Given the description of an element on the screen output the (x, y) to click on. 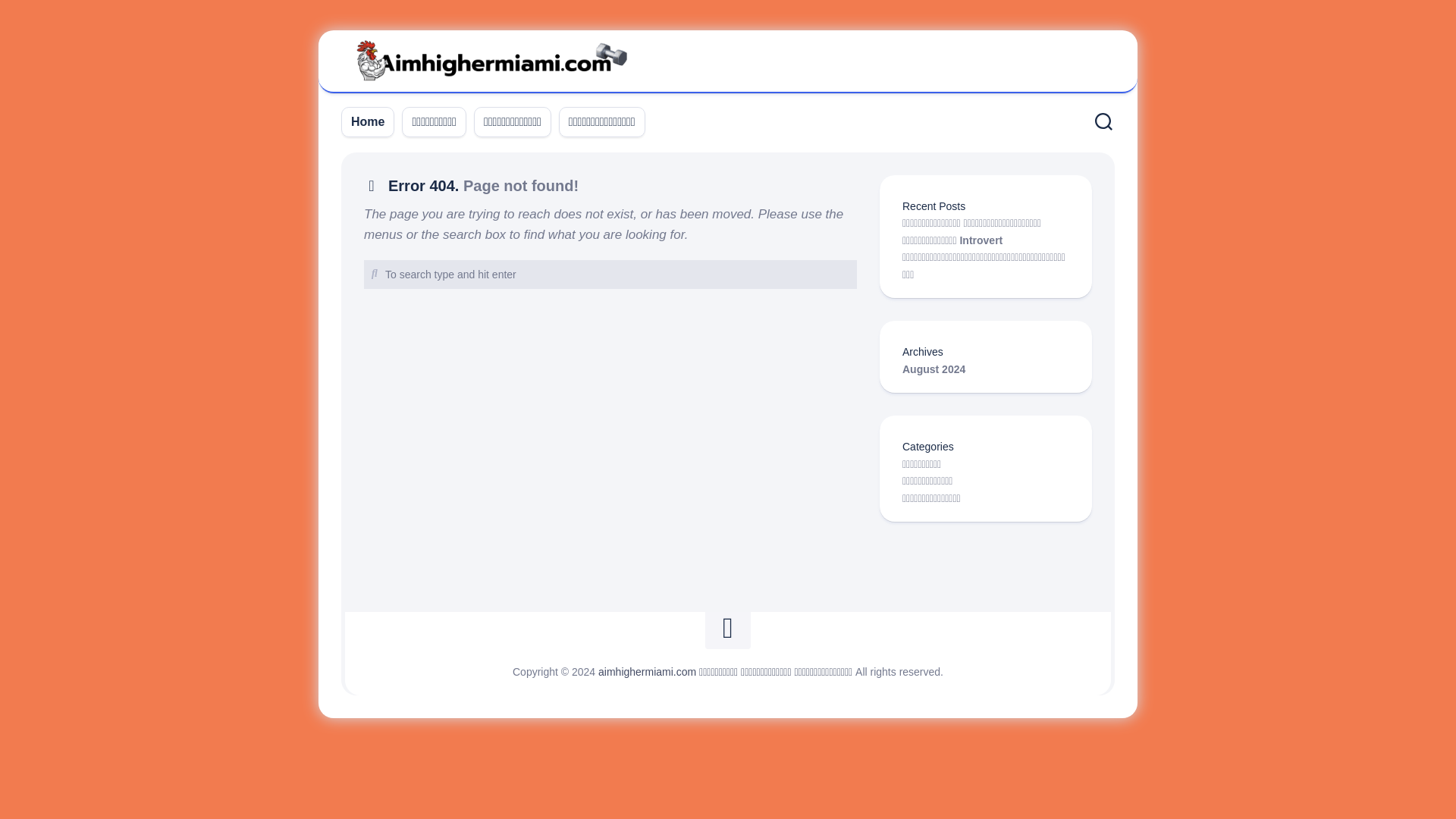
August 2024 (933, 369)
Home (367, 121)
To search type and hit enter (610, 274)
To search type and hit enter (610, 274)
